Given the description of an element on the screen output the (x, y) to click on. 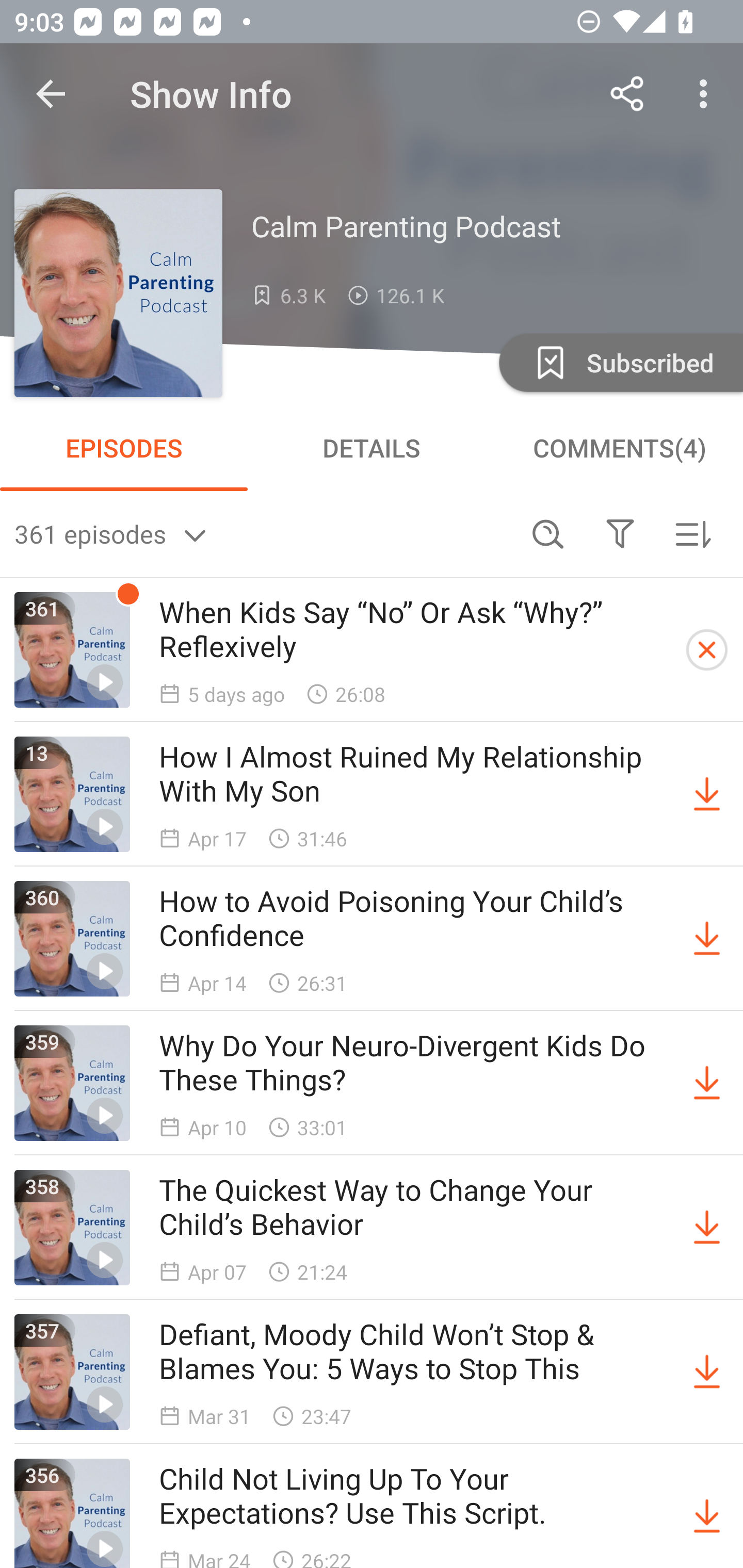
Navigate up (50, 93)
Share (626, 93)
More options (706, 93)
Unsubscribe Subscribed (619, 361)
EPISODES (123, 447)
DETAILS (371, 447)
COMMENTS(4) (619, 447)
361 episodes  (262, 533)
 Search (547, 533)
 (619, 533)
 Sorted by newest first (692, 533)
Cancel Downloading (706, 649)
Download (706, 793)
Download (706, 939)
Download (706, 1083)
Download (706, 1227)
Download (706, 1371)
Download (706, 1513)
